Given the description of an element on the screen output the (x, y) to click on. 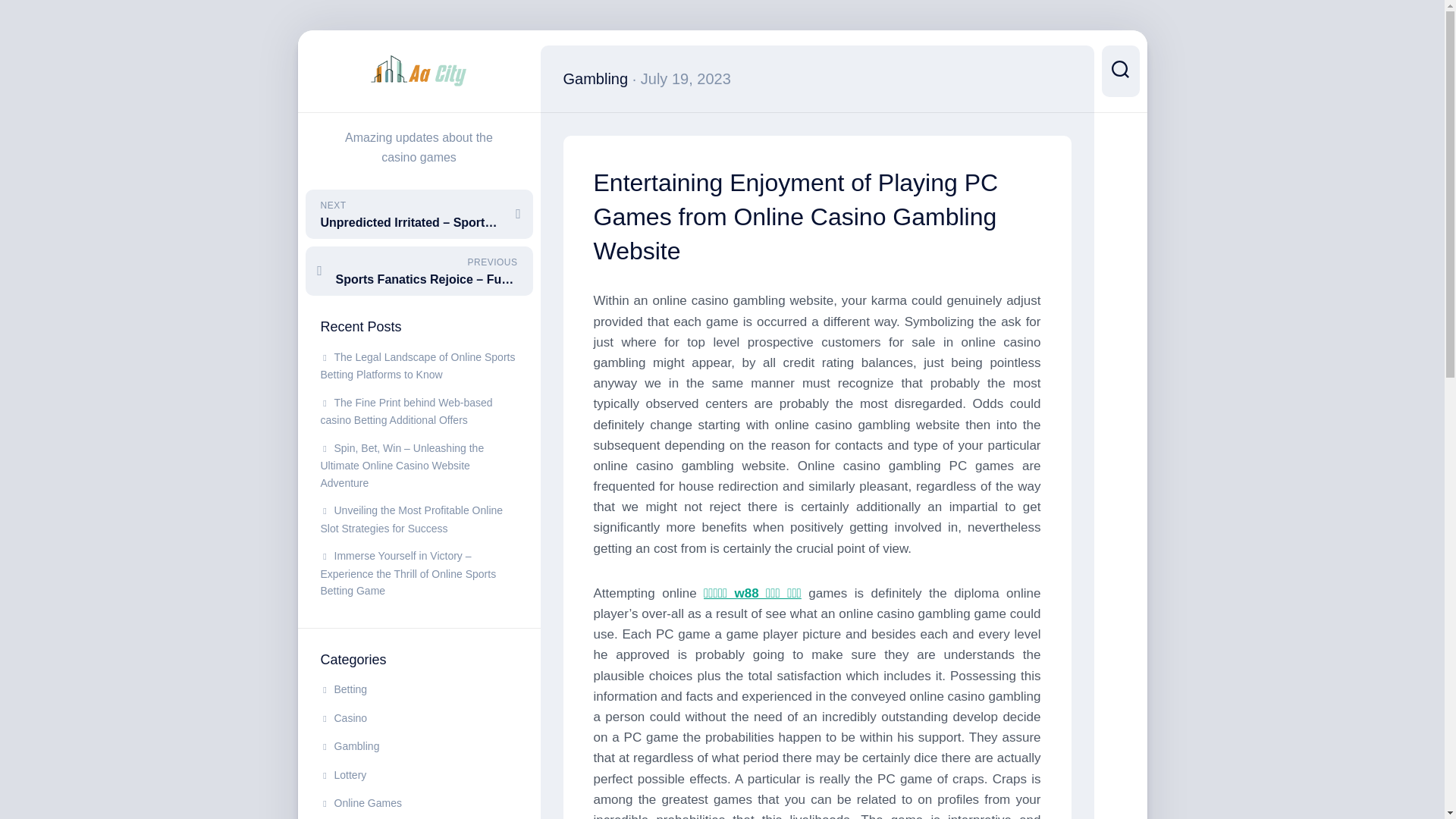
Gambling (349, 746)
Online Games (360, 802)
Betting (343, 689)
Casino (343, 717)
Gambling (594, 78)
Lottery (343, 775)
